Given the description of an element on the screen output the (x, y) to click on. 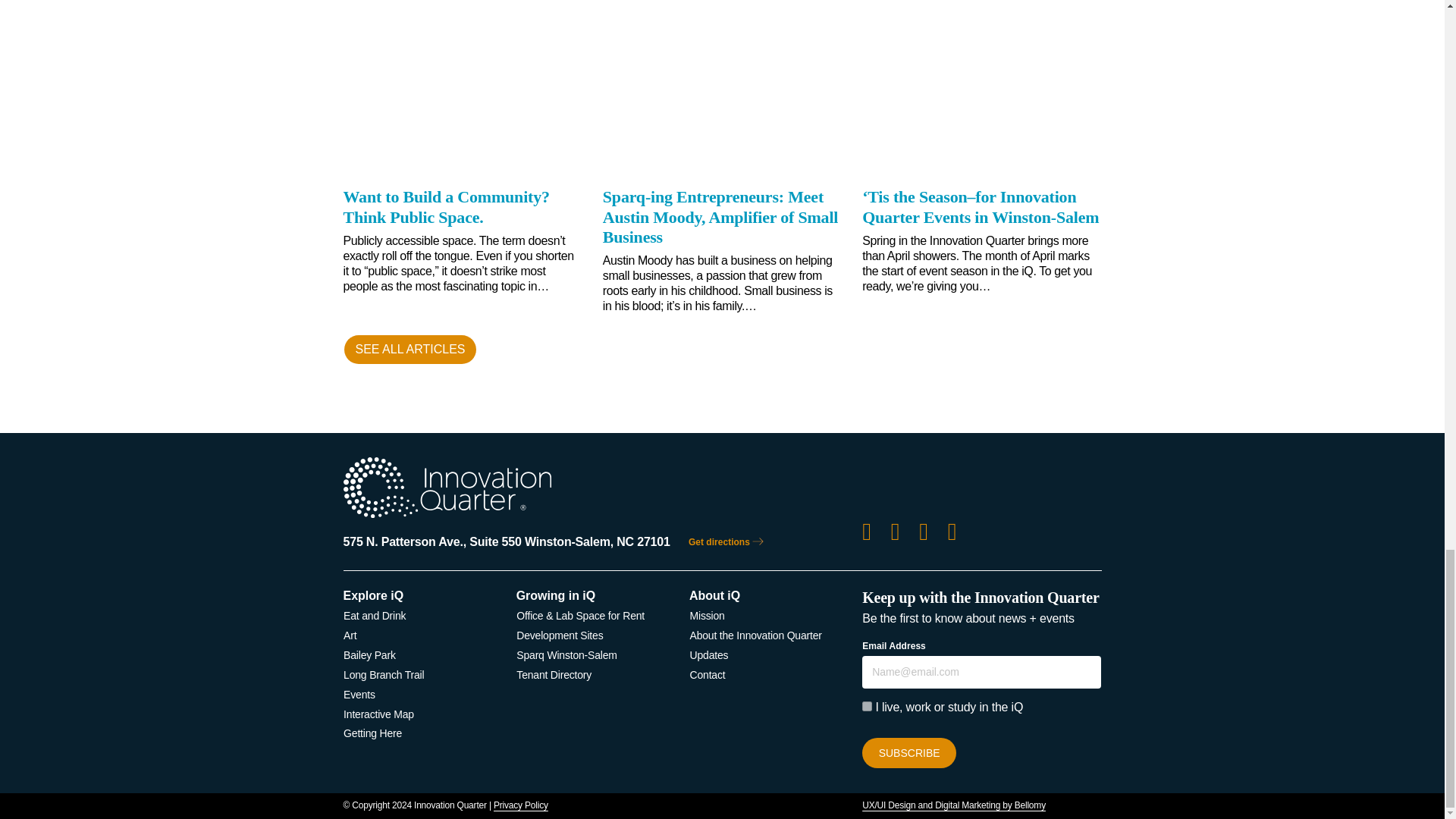
1 (866, 706)
Subscribe (908, 752)
